Given the description of an element on the screen output the (x, y) to click on. 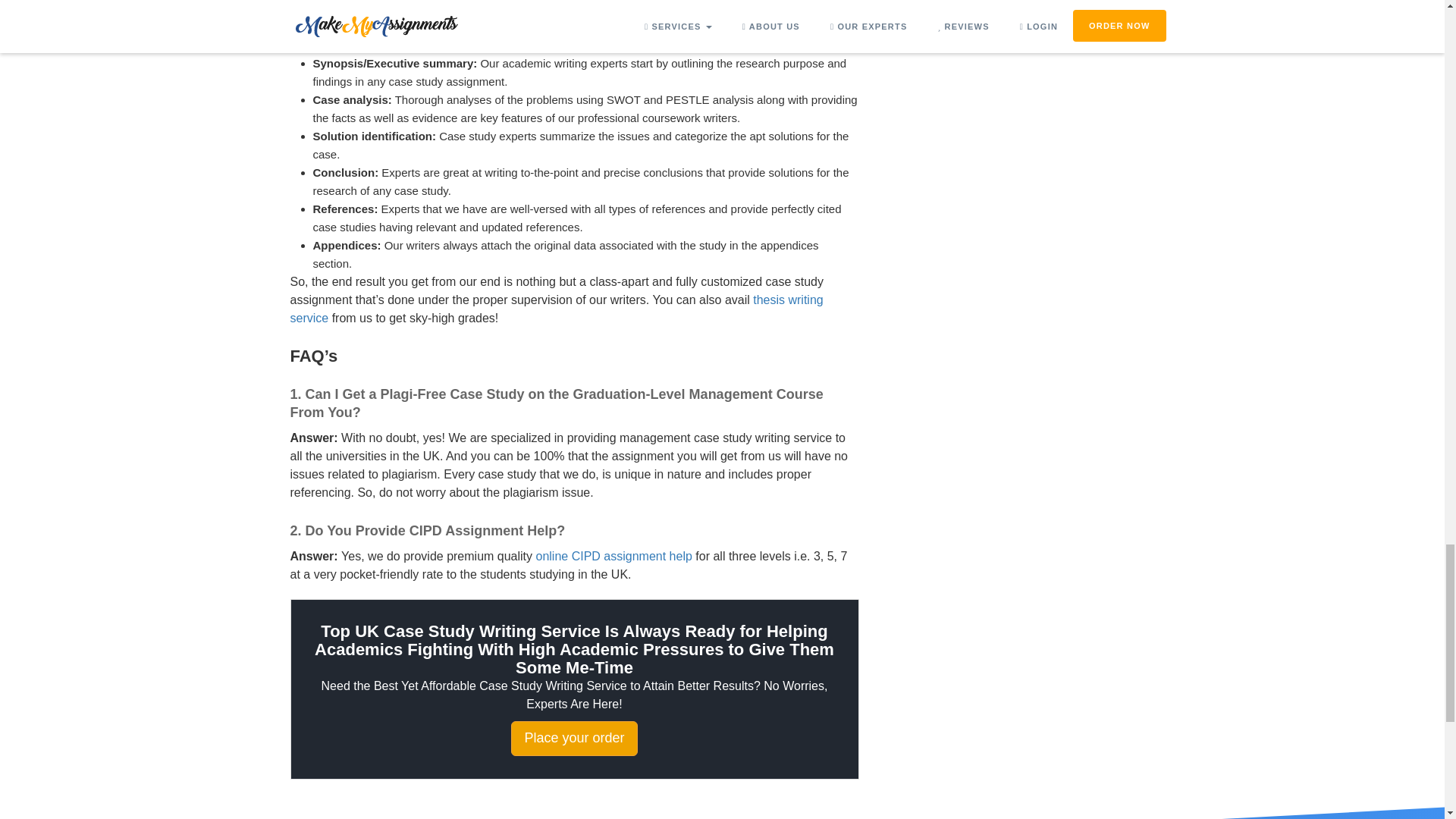
Place your order (574, 738)
thesis writing service (555, 308)
online CIPD assignment help (614, 555)
